Given the description of an element on the screen output the (x, y) to click on. 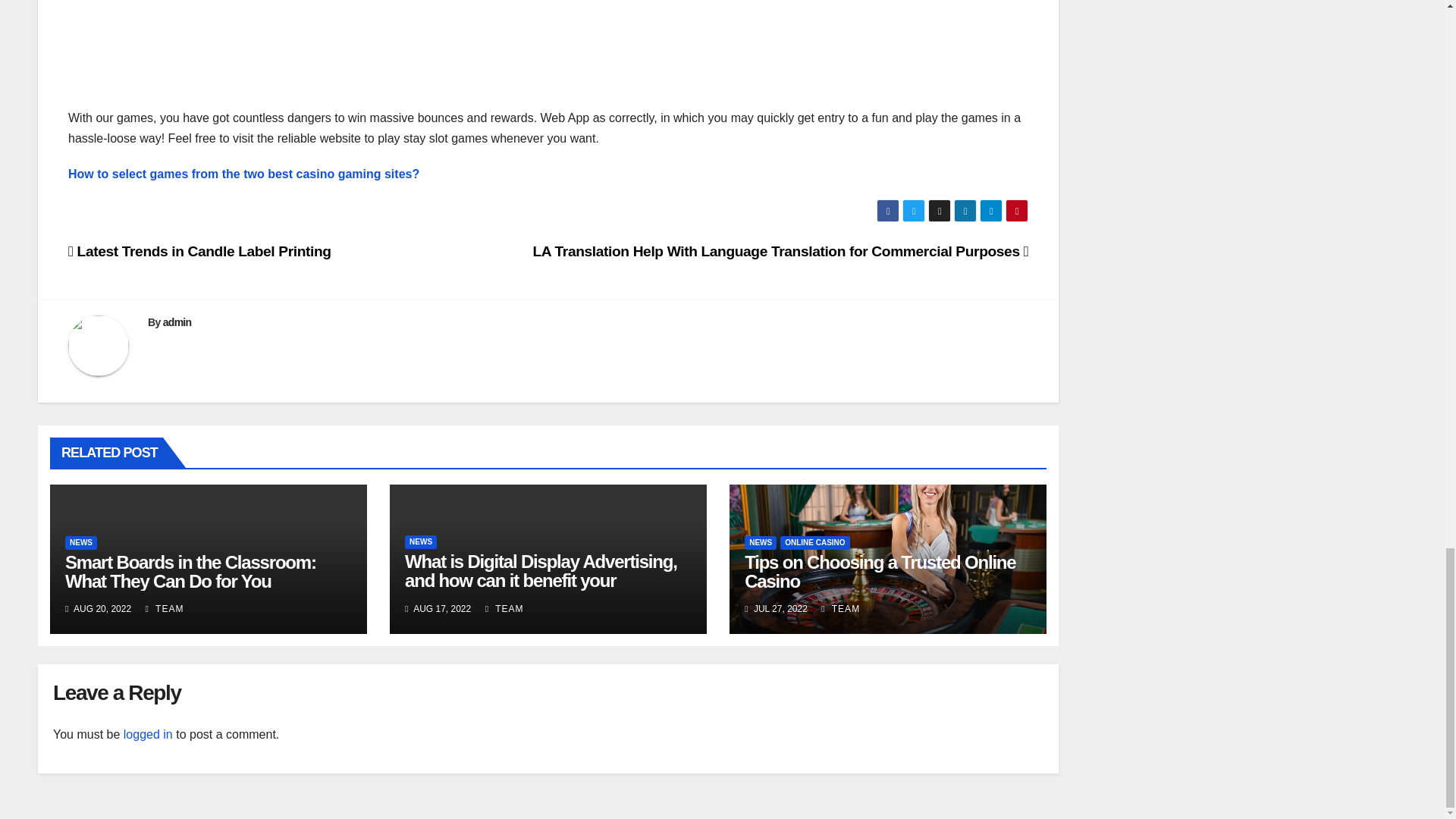
How to select games from the two best casino gaming sites? (243, 173)
Latest Trends in Candle Label Printing (199, 251)
Permalink to: Tips on Choosing a Trusted Online Casino (879, 571)
